Given the description of an element on the screen output the (x, y) to click on. 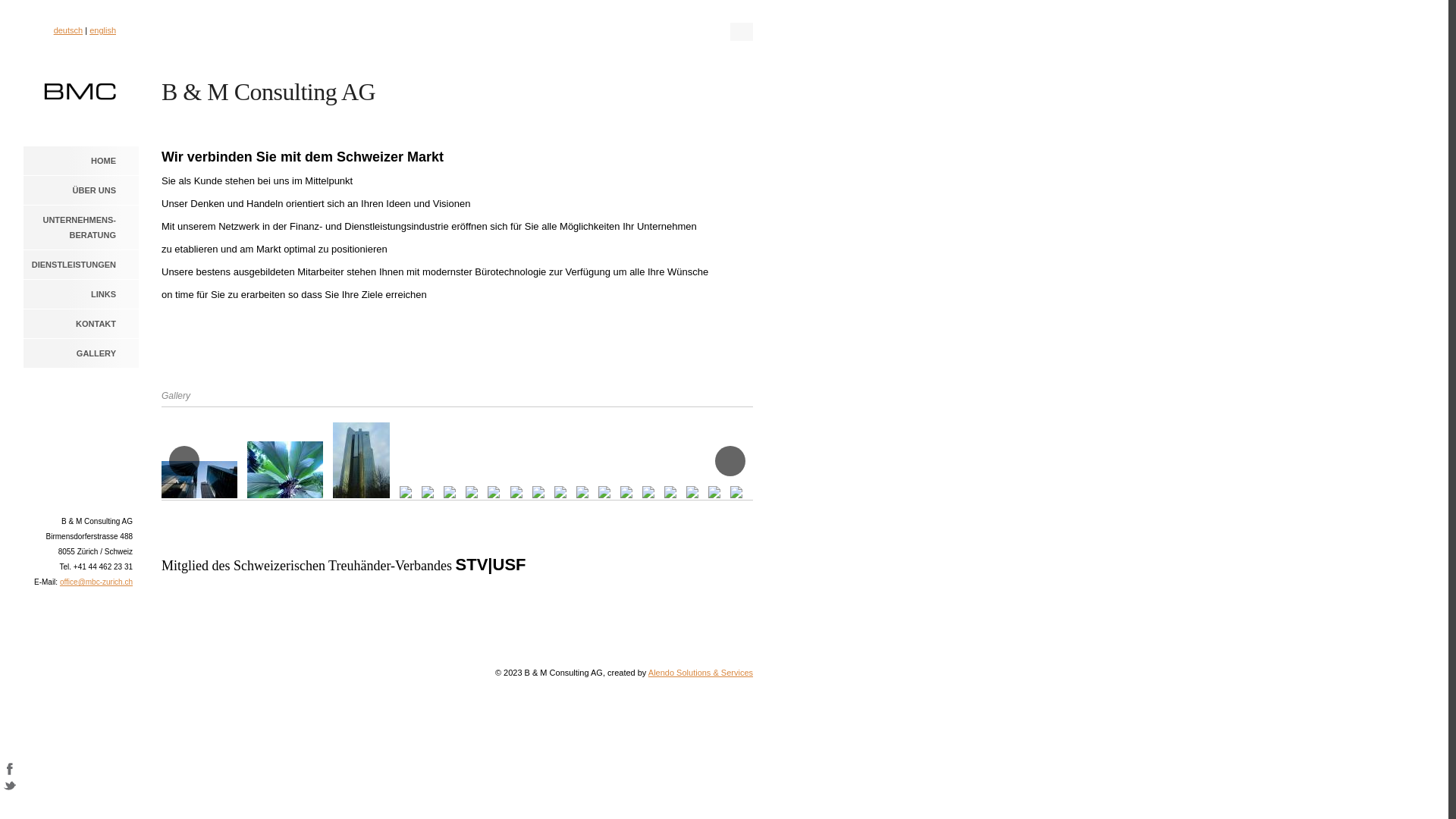
english Element type: text (102, 29)
Back to Top Element type: text (1421, 784)
Alendo Solutions & Services Element type: text (700, 672)
KONTAKT Element type: text (80, 323)
UNTERNEHMENS- BERATUNG Element type: text (80, 226)
LINKS Element type: text (80, 293)
Search Element type: text (741, 31)
HOME Element type: text (80, 160)
office@mbc-zurich.ch Element type: text (95, 581)
DIENSTLEISTUNGEN Element type: text (80, 264)
Follow me on Twitter Element type: hover (9, 787)
GALLERY Element type: text (80, 353)
deutsch Element type: text (68, 29)
Friend me on Facebook Element type: hover (9, 770)
